Given the description of an element on the screen output the (x, y) to click on. 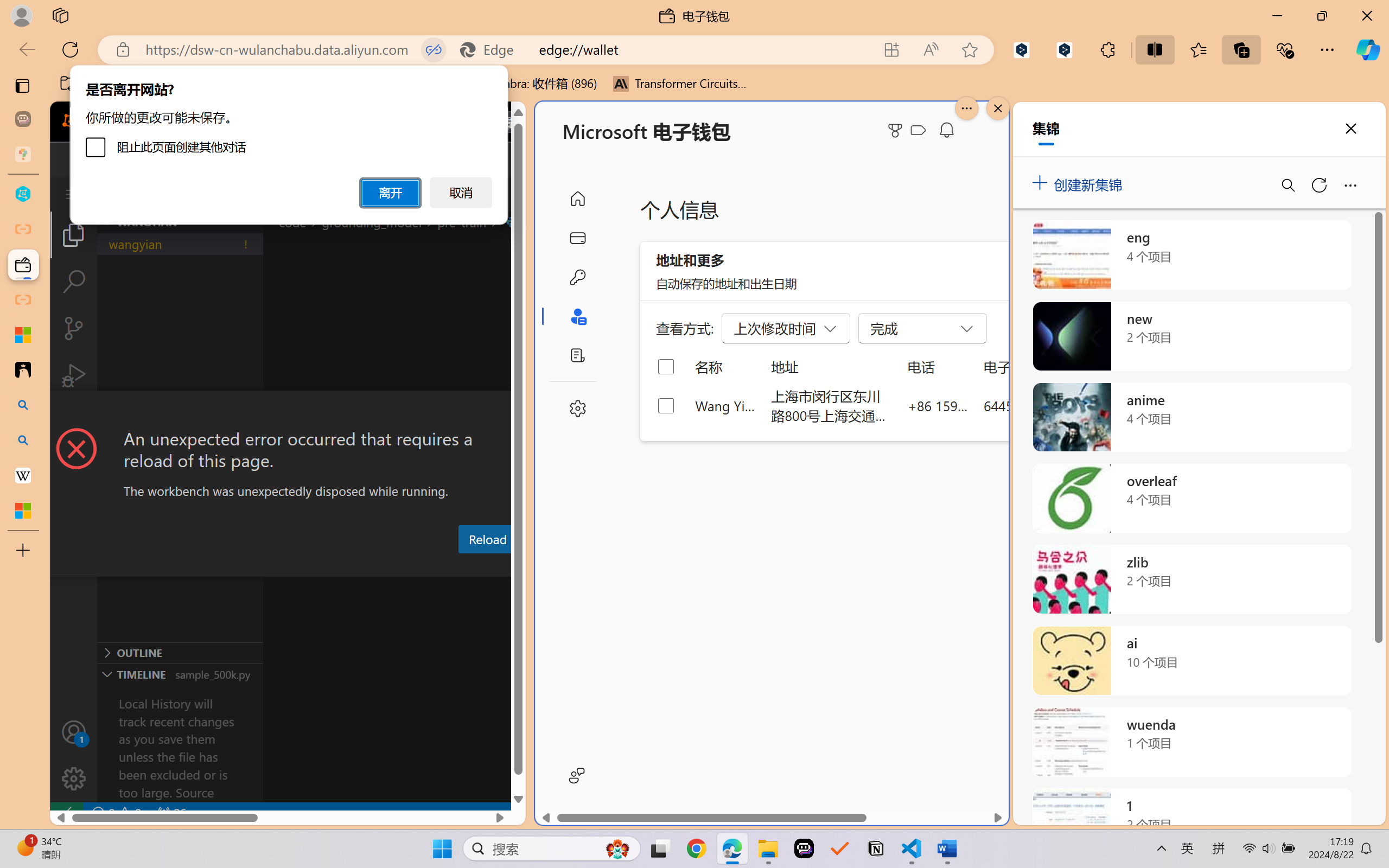
Extensions (Ctrl+Shift+X) (73, 422)
Earth - Wikipedia (22, 475)
Class: ___1lmltc5 f1agt3bx f12qytpq (917, 130)
Microsoft Cashback (920, 130)
